Given the description of an element on the screen output the (x, y) to click on. 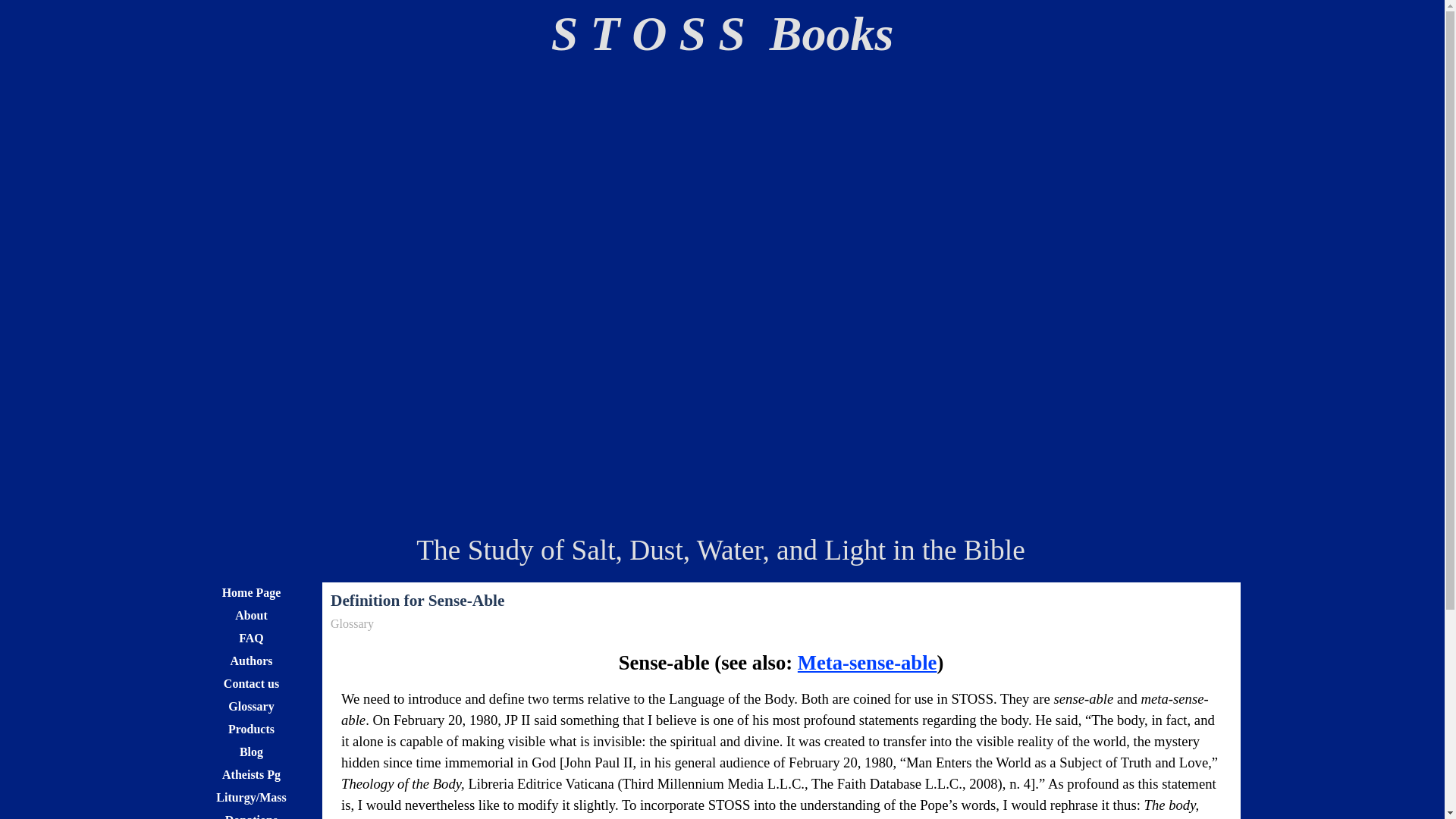
Blog (251, 752)
Contact us (251, 683)
FAQ (251, 638)
Home Page (251, 592)
